Given the description of an element on the screen output the (x, y) to click on. 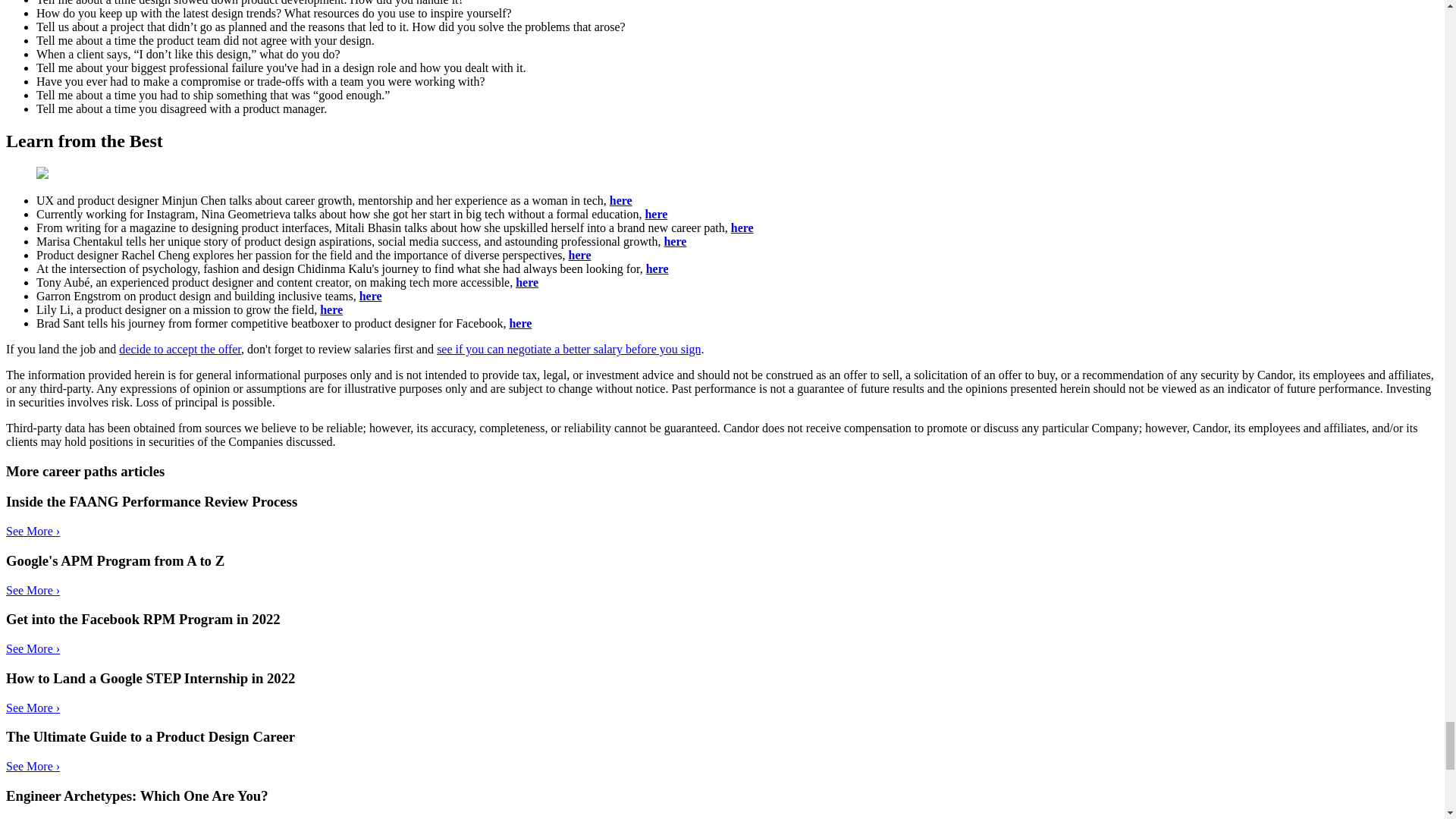
here (674, 241)
decide to accept the offer (180, 349)
here (620, 200)
here (370, 295)
here (657, 268)
see if you can negotiate a better salary before you sign (568, 349)
here (655, 214)
here (526, 282)
here (580, 254)
here (742, 227)
here (519, 323)
here (331, 309)
